Given the description of an element on the screen output the (x, y) to click on. 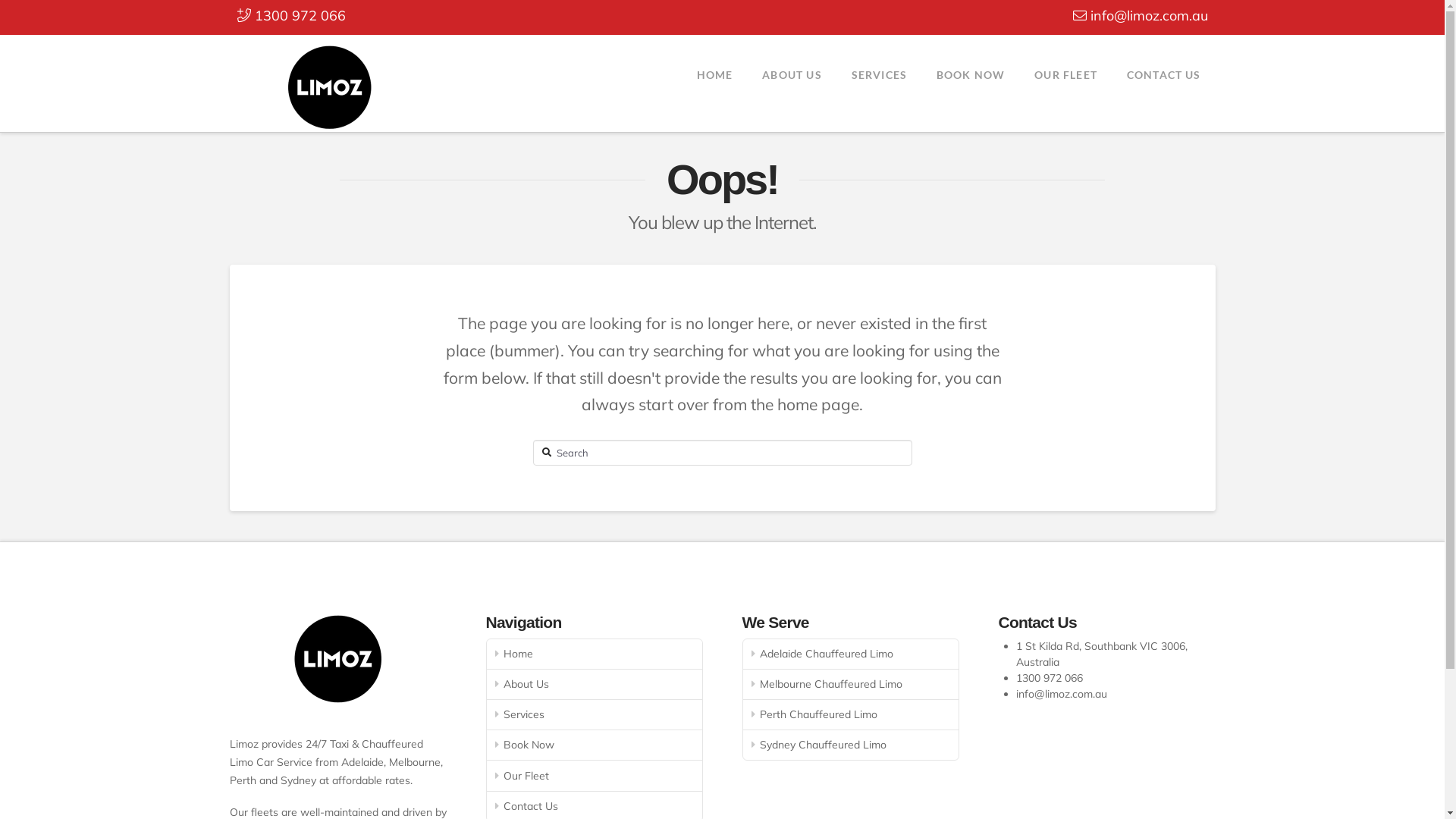
Services Element type: text (594, 714)
HOME Element type: text (714, 72)
Book Now Element type: text (594, 745)
info@limoz.com.au Element type: text (1139, 15)
1300 972 066 Element type: text (1049, 677)
info@limoz.com.au Element type: text (1061, 693)
Our Fleet Element type: text (594, 775)
Adelaide Chauffeured Limo Element type: text (850, 654)
Melbourne Chauffeured Limo Element type: text (850, 684)
1300 972 066 Element type: text (290, 15)
BOOK NOW Element type: text (970, 72)
ABOUT US Element type: text (790, 72)
OUR FLEET Element type: text (1065, 72)
Perth Chauffeured Limo Element type: text (850, 714)
SERVICES Element type: text (878, 72)
Sydney Chauffeured Limo Element type: text (850, 745)
Home Element type: text (594, 654)
CONTACT US Element type: text (1163, 72)
About Us Element type: text (594, 684)
